Given the description of an element on the screen output the (x, y) to click on. 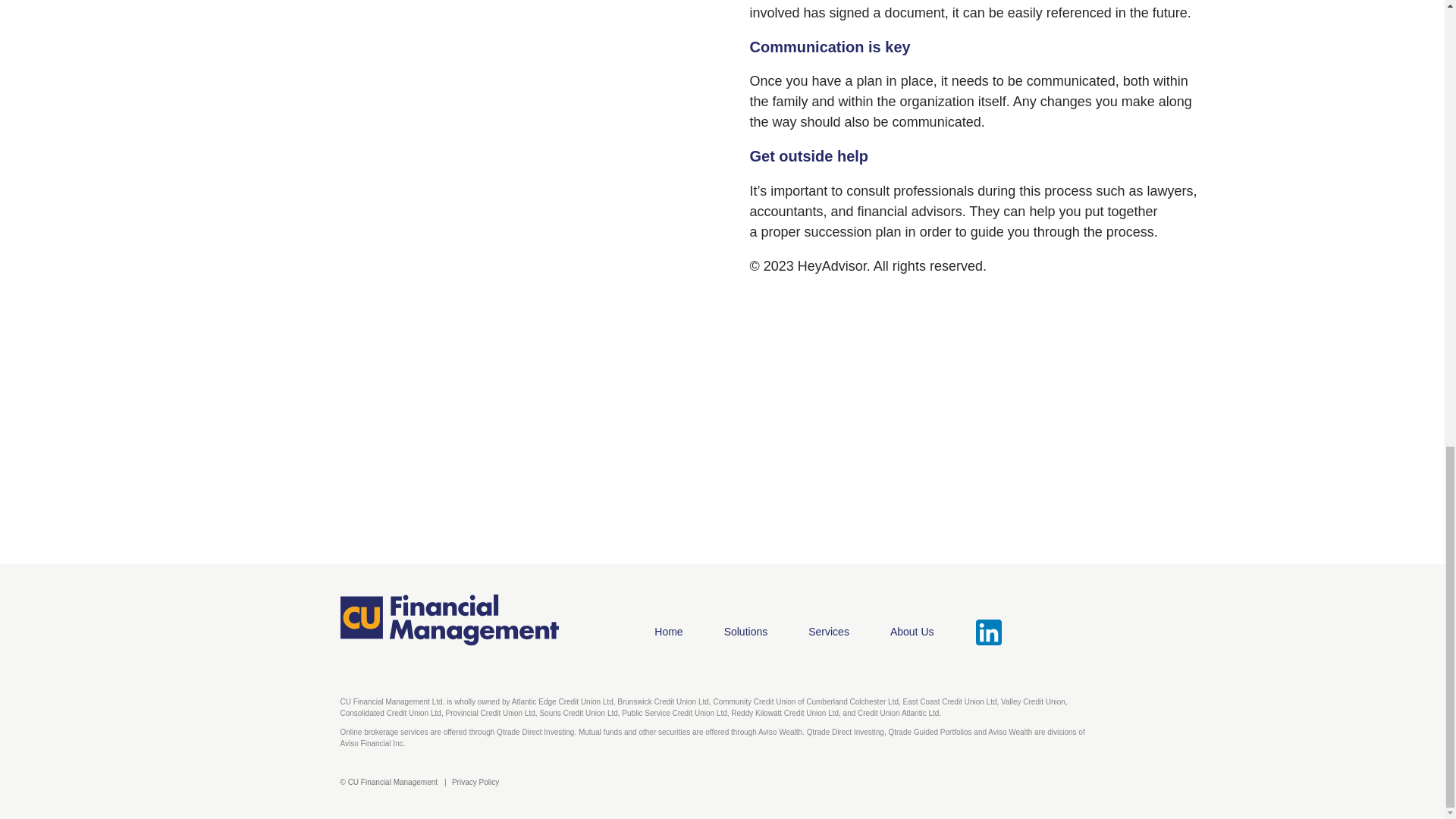
LinkedIn (988, 632)
Home (667, 631)
Services (828, 631)
Privacy Policy (475, 782)
About Us (911, 631)
Home (448, 619)
Solutions (745, 631)
